Given the description of an element on the screen output the (x, y) to click on. 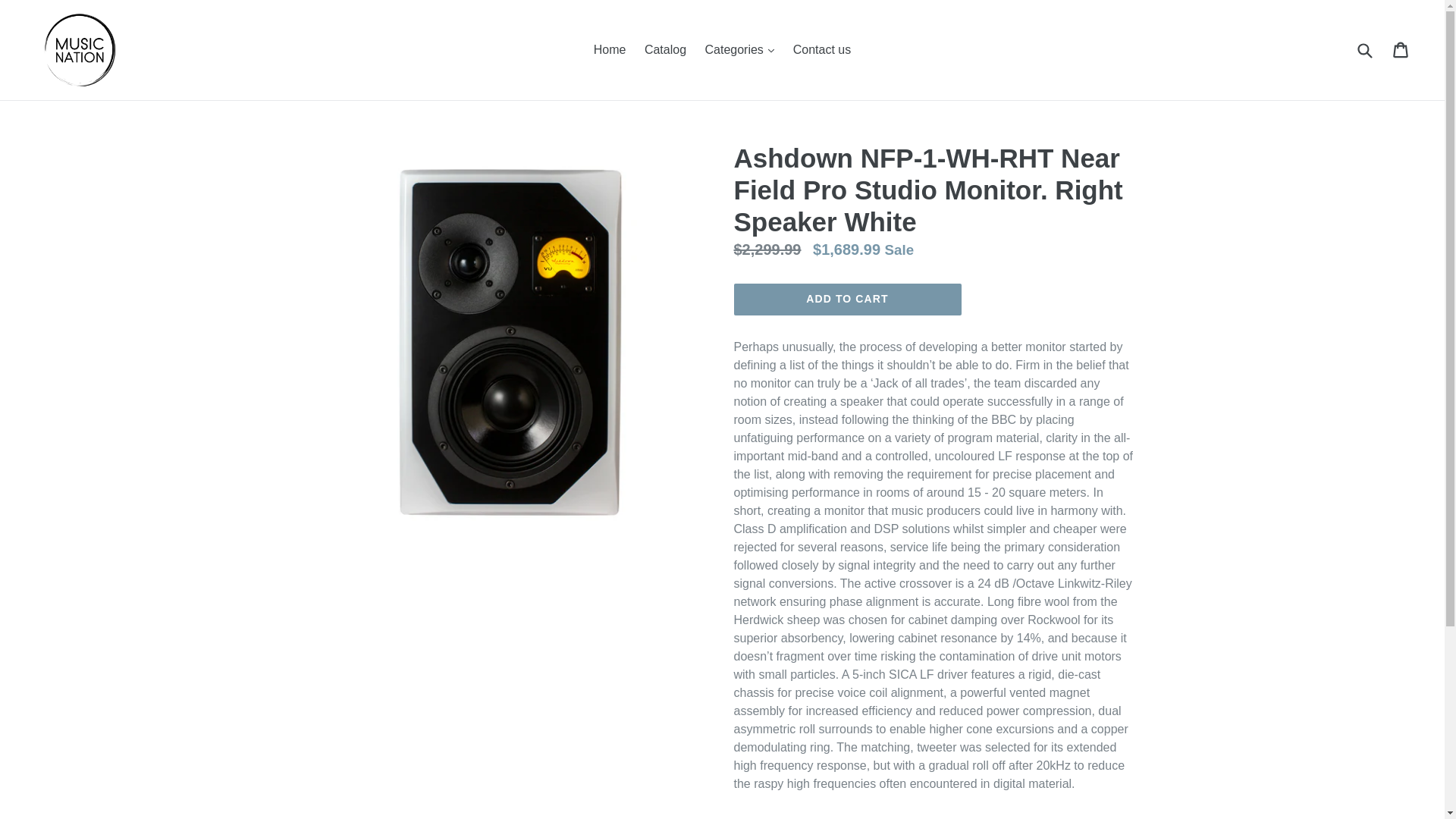
Catalog (665, 49)
Home (609, 49)
ADD TO CART (846, 299)
Contact us (822, 49)
